Given the description of an element on the screen output the (x, y) to click on. 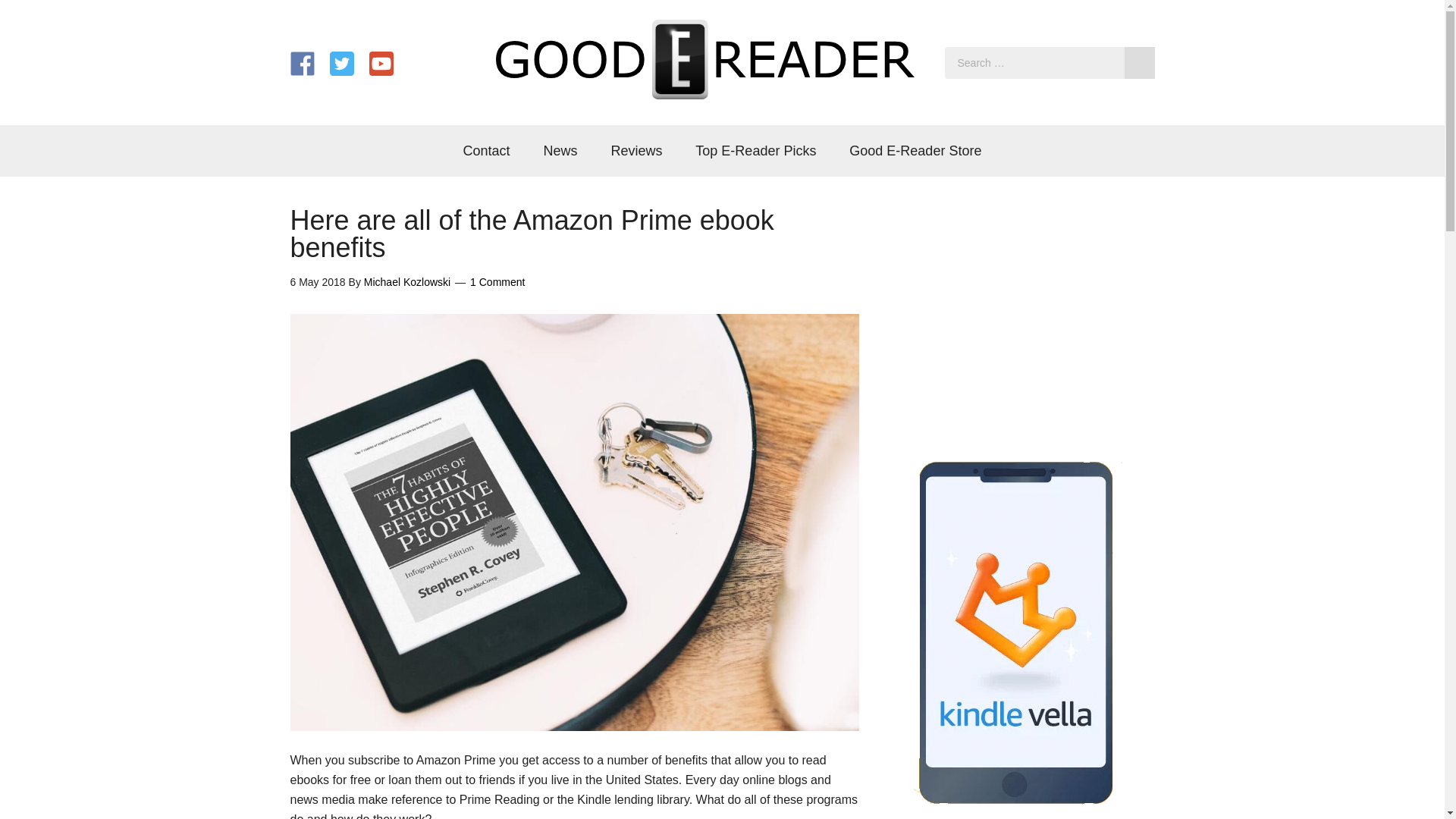
Contact (486, 150)
News (560, 150)
Search for: (1049, 62)
Follow Us on YouTube (380, 63)
Top E-Reader Picks (755, 150)
Goodereaderlogoblack Good Ereader (705, 59)
Reviews (636, 150)
Follow Us on Facebook (301, 63)
Reviews (636, 150)
Follow Us on Twitter (341, 63)
Contact (486, 150)
News (560, 150)
Good E-Reader Store (914, 150)
